Given the description of an element on the screen output the (x, y) to click on. 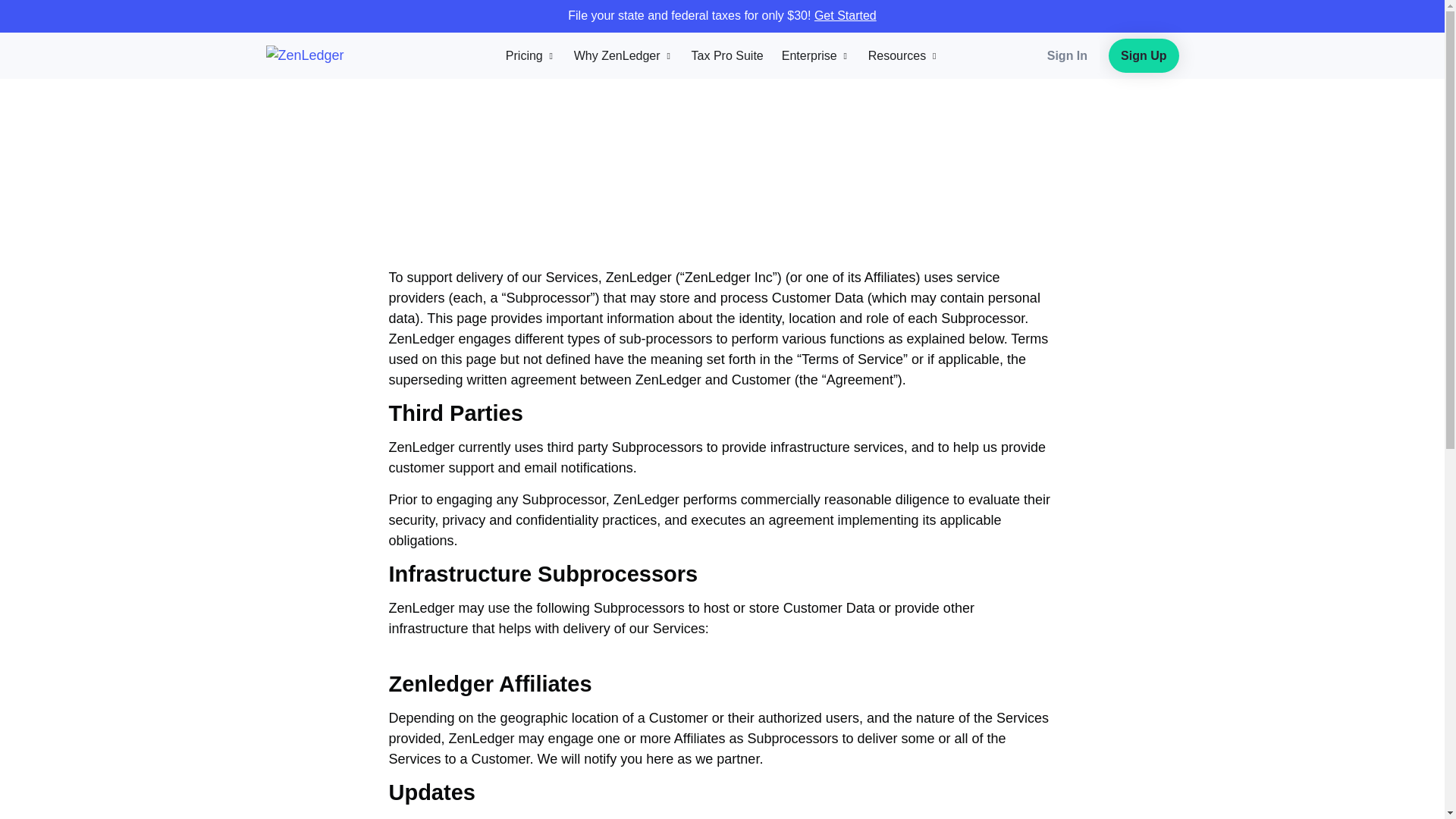
Sign Up (1142, 55)
ZenLedger Logo (325, 55)
Sign In (1067, 55)
Tax Pro Suite (726, 55)
Get Started (844, 15)
